Given the description of an element on the screen output the (x, y) to click on. 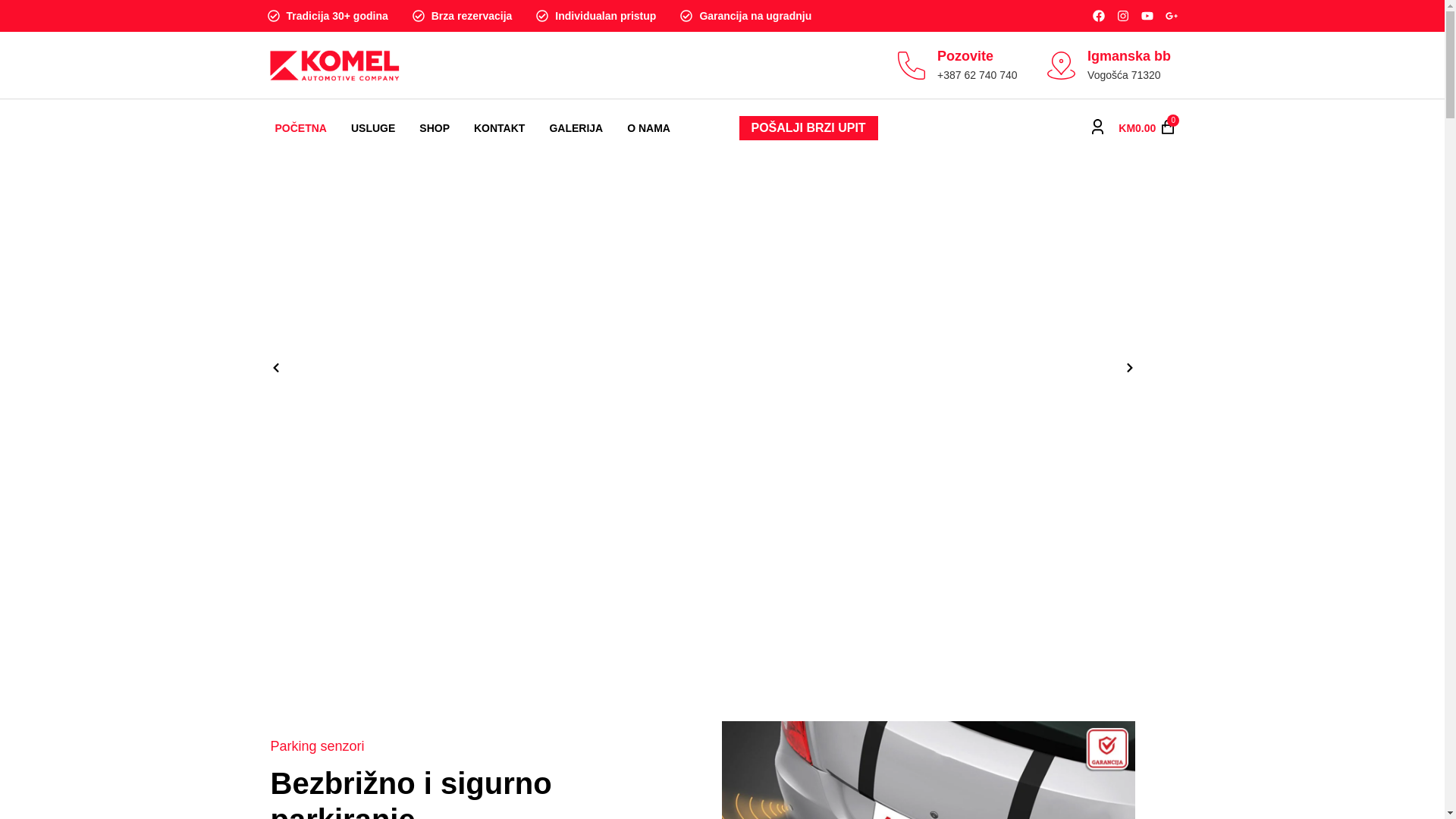
KM0.00
0 Element type: text (1145, 127)
Pozovite Element type: text (965, 55)
USLUGE Element type: text (373, 127)
O NAMA Element type: text (648, 127)
KONTAKT Element type: text (498, 127)
Igmanska bb Element type: text (1128, 55)
GALERIJA Element type: text (575, 127)
+387 62 740 740 Element type: text (977, 75)
SHOP Element type: text (434, 127)
